Given the description of an element on the screen output the (x, y) to click on. 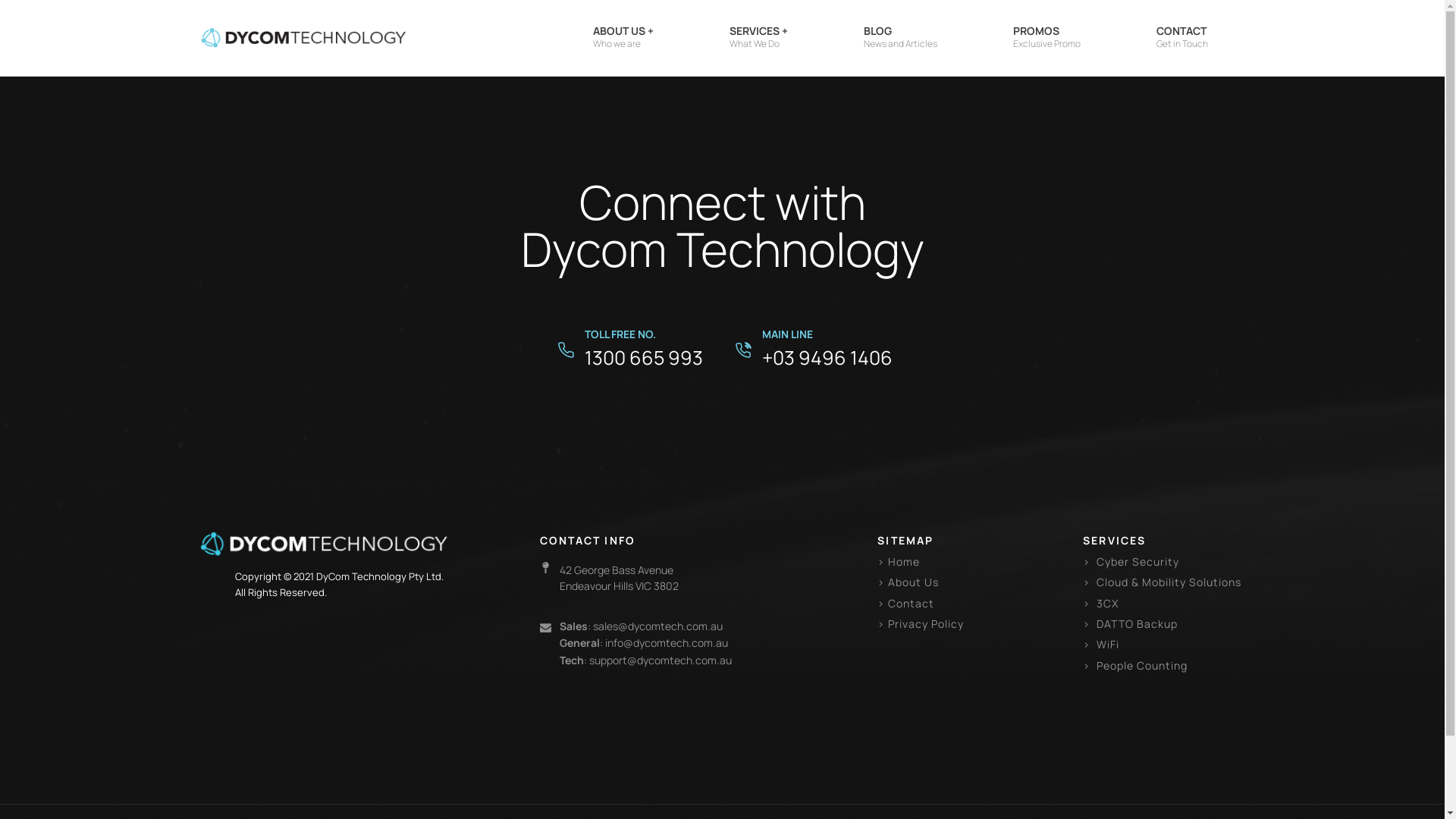
>  Cyber Security Element type: text (1130, 561)
> Home Element type: text (898, 561)
Tech: support@dycomtech.com.au Element type: text (645, 660)
> Contact Element type: text (905, 602)
> About Us Element type: text (907, 581)
>  People Counting Element type: text (1134, 665)
> Privacy Policy Element type: text (920, 623)
CONTACT
Get in Touch Element type: text (1181, 37)
PROMOS
Exclusive Promo Element type: text (1046, 37)
>  WiFi Element type: text (1100, 643)
BLOG
News and Articles Element type: text (899, 37)
ABOUT US +
Who we are Element type: text (623, 37)
>  3CX Element type: text (1100, 602)
>  DATTO Backup Element type: text (1129, 623)
1300 665 993 Element type: text (643, 357)
SERVICES +
What We Do Element type: text (758, 37)
Sales: sales@dycomtech.com.au Element type: text (640, 626)
>  Cloud & Mobility Solutions Element type: text (1161, 581)
+03 9496 1406 Element type: text (827, 357)
General: info@dycomtech.com.au Element type: text (643, 642)
